Given the description of an element on the screen output the (x, y) to click on. 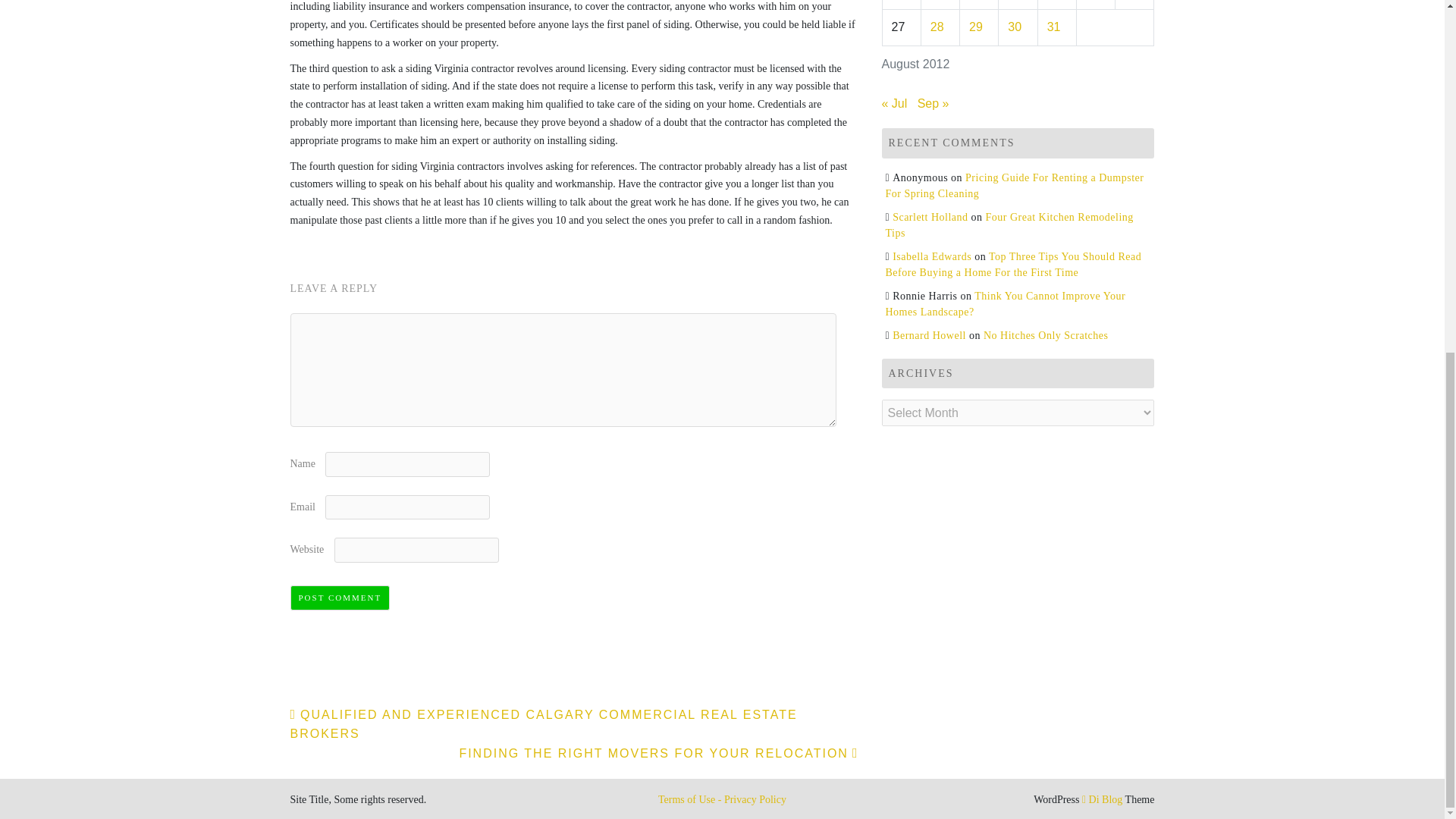
29 (975, 26)
FINDING THE RIGHT MOVERS FOR YOUR RELOCATION (658, 753)
Post Comment (339, 597)
Post Comment (339, 597)
28 (936, 26)
